Given the description of an element on the screen output the (x, y) to click on. 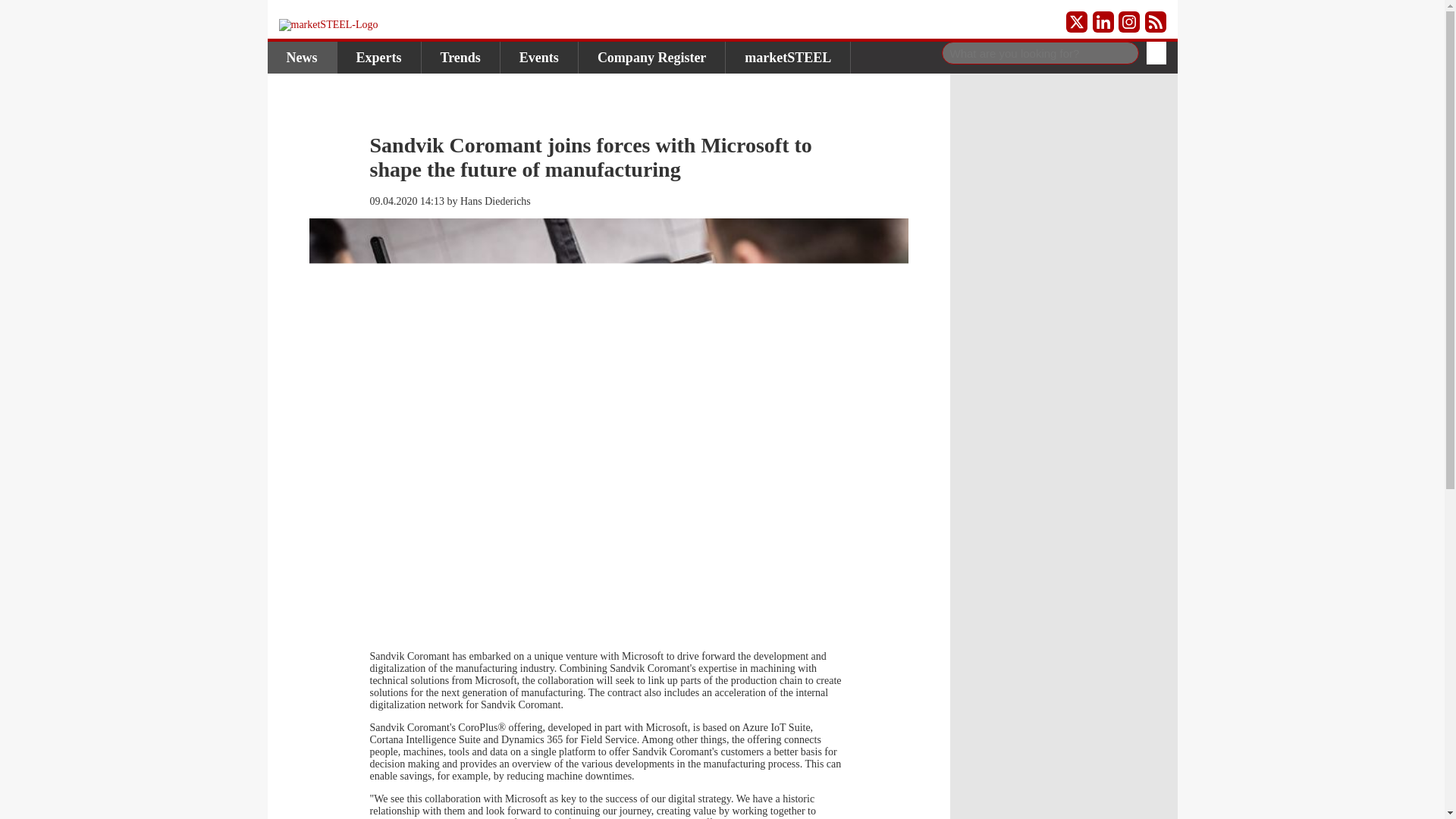
Experts (378, 57)
Company Register (651, 57)
News (301, 57)
Events (539, 57)
marketSTEEL (787, 57)
Company Register (651, 57)
Events (539, 57)
marketSTEEL (787, 57)
